Given the description of an element on the screen output the (x, y) to click on. 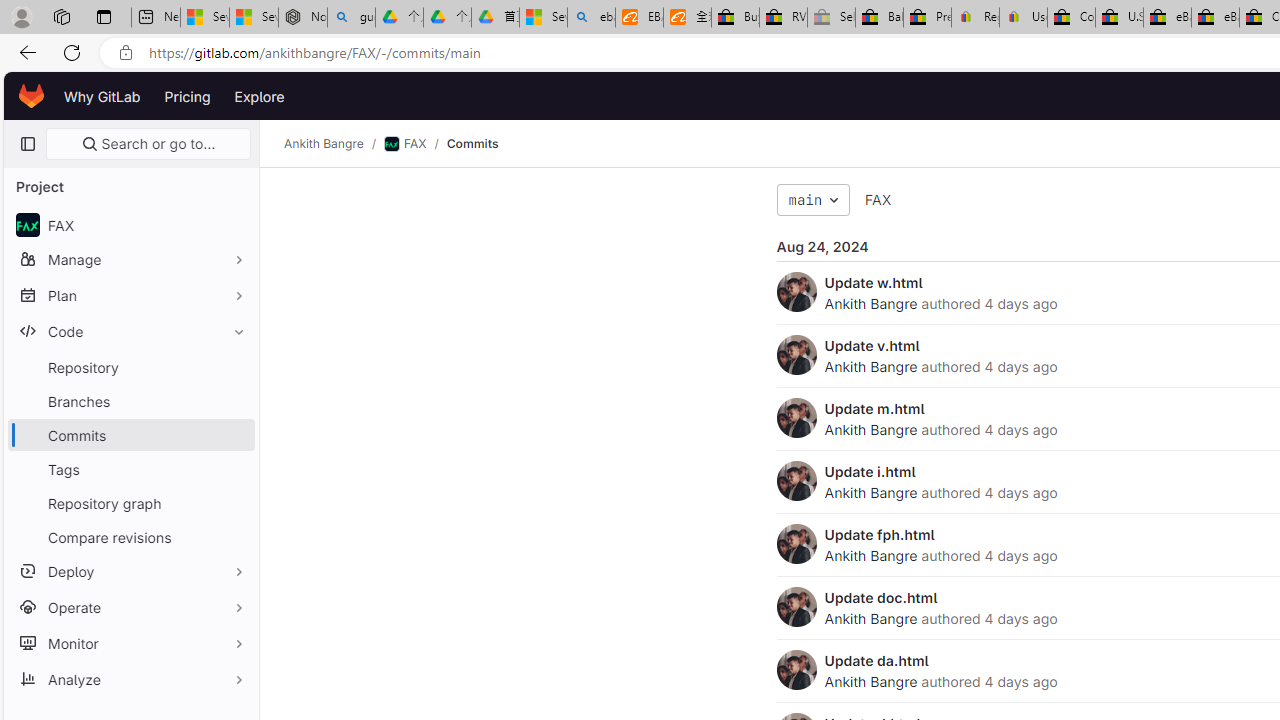
guge yunpan - Search (351, 17)
FAX (878, 200)
Update fph.html (879, 534)
User Privacy Notice | eBay (1023, 17)
Repository graph (130, 502)
Buy Auto Parts & Accessories | eBay (735, 17)
FAX (878, 199)
Sell worldwide with eBay - Sleeping (831, 17)
RV, Trailer & Camper Steps & Ladders for sale | eBay (783, 17)
Manage (130, 259)
Explore (259, 95)
Analyze (130, 678)
Commits (472, 143)
Repository graph (130, 502)
